Given the description of an element on the screen output the (x, y) to click on. 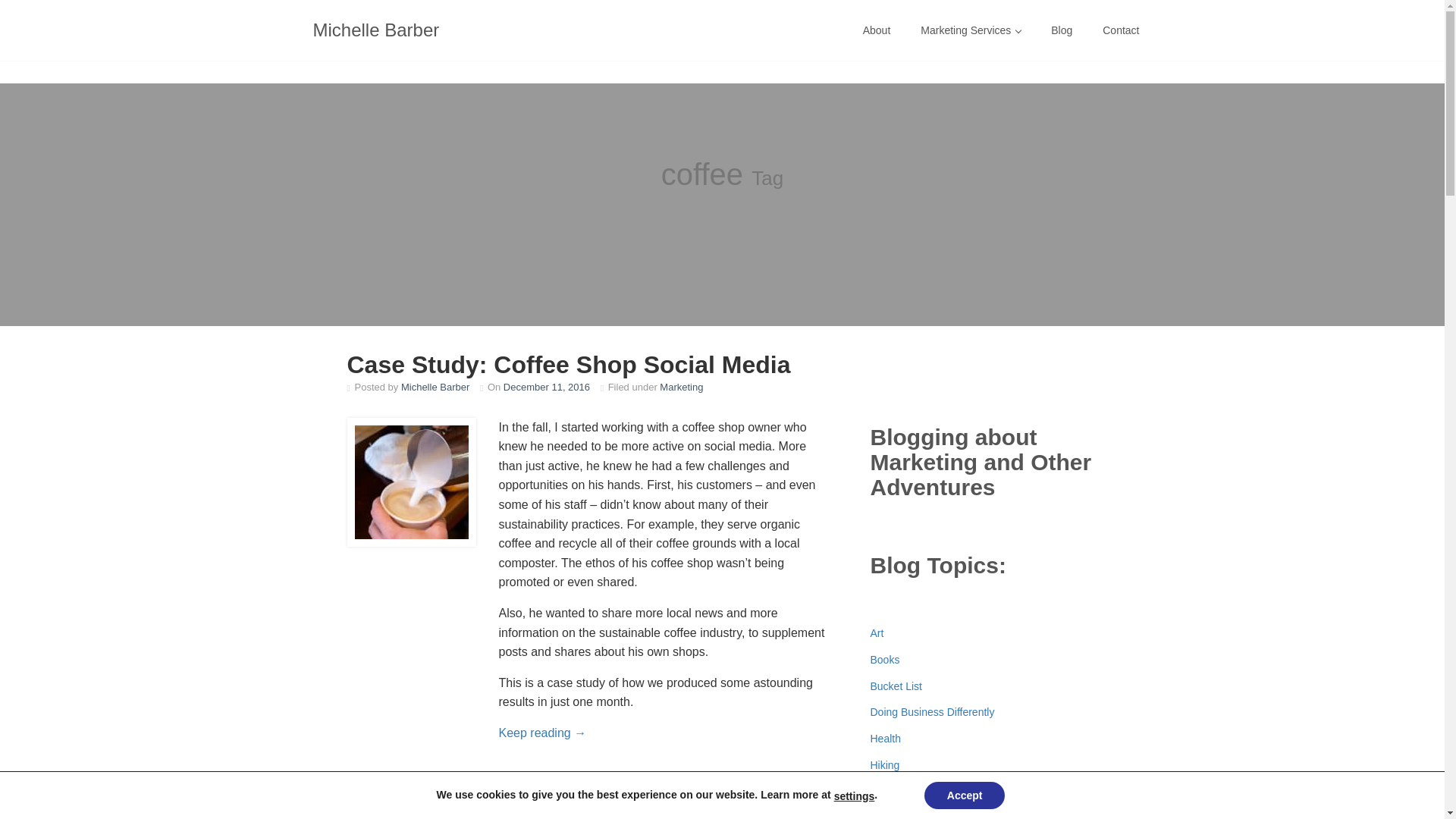
Case Study: Coffee Shop Social Media (568, 364)
Marketing Services (970, 30)
Contact (1120, 30)
Marketing (681, 387)
December 11, 2016 (546, 387)
Michelle Barber (434, 387)
About (876, 30)
Michelle Barber (376, 30)
